Given the description of an element on the screen output the (x, y) to click on. 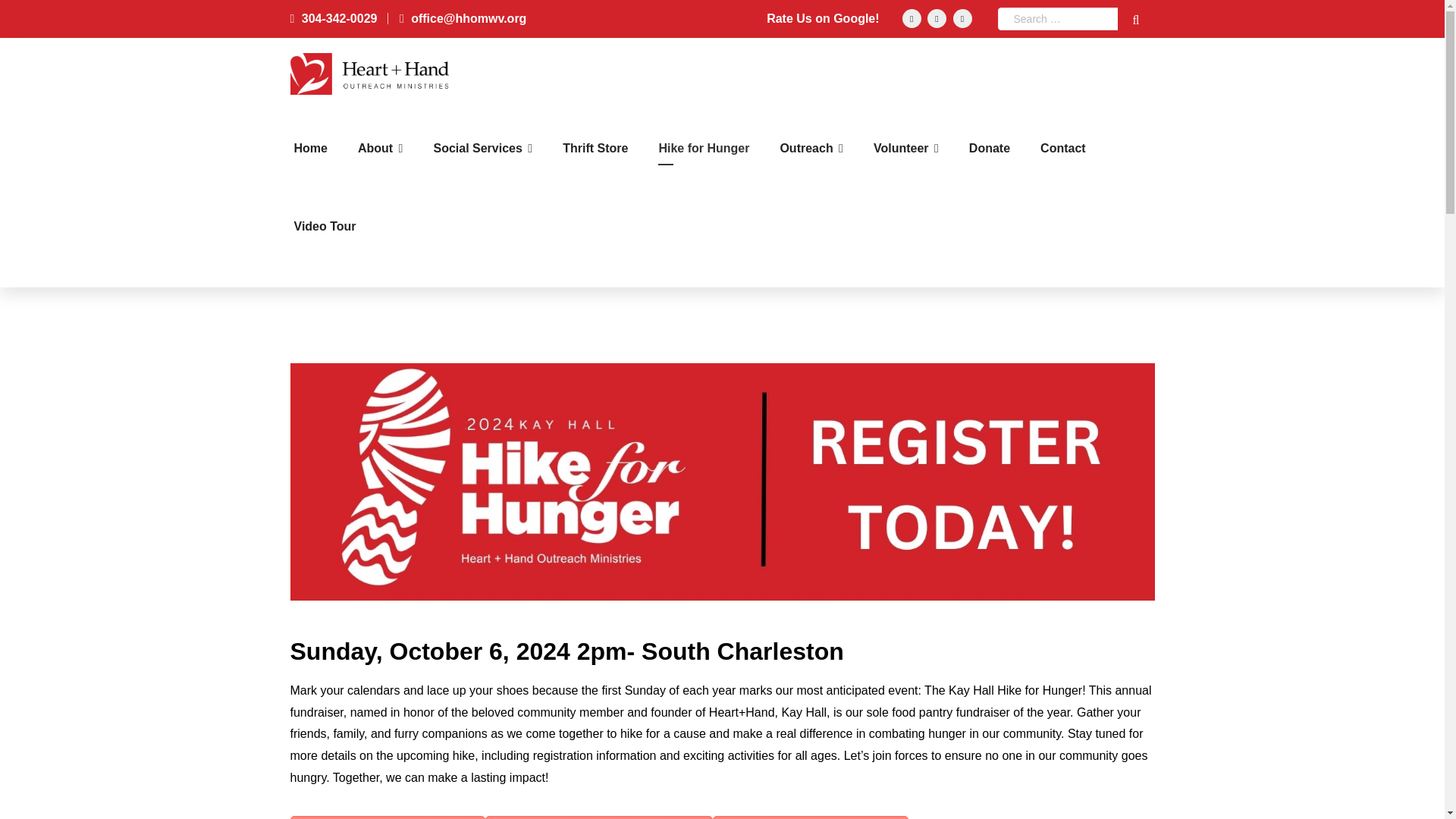
Thrift Store (595, 148)
Social Services (482, 148)
Hike for Hunger (703, 148)
About (380, 148)
Social Services (482, 148)
304-342-0029 (333, 18)
Home (310, 148)
Outreach (811, 148)
Home (310, 148)
Rate Us on Google! (823, 18)
About (380, 148)
